Given the description of an element on the screen output the (x, y) to click on. 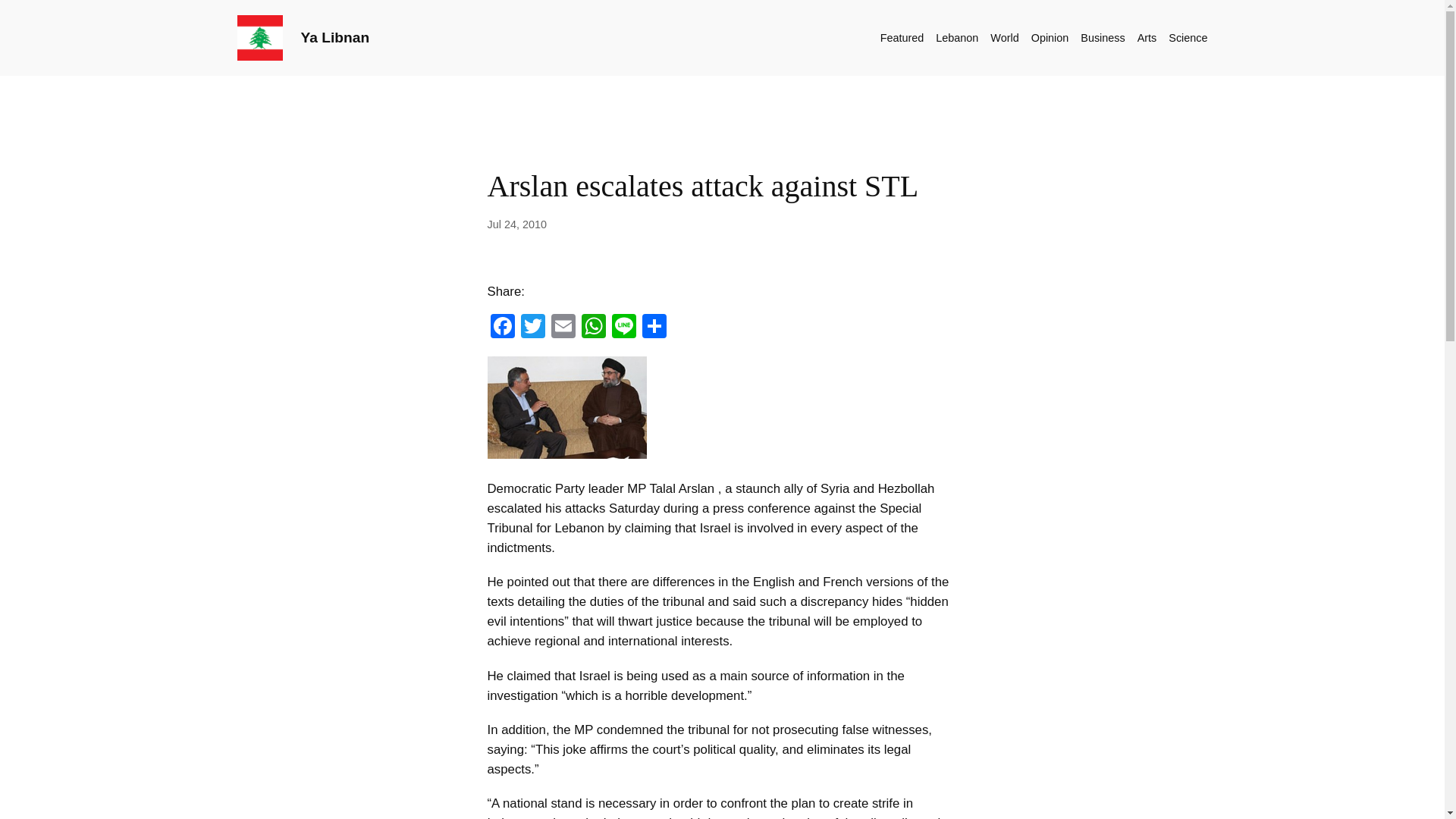
WhatsApp (593, 327)
Featured (902, 37)
Ya Libnan (334, 37)
Opinion (1049, 37)
Line (623, 327)
arslan nasrallah (566, 407)
Business (1102, 37)
Science (1188, 37)
Arts (1147, 37)
Email (562, 327)
Email (562, 327)
Facebook (501, 327)
World (1003, 37)
Line (623, 327)
Facebook (501, 327)
